Given the description of an element on the screen output the (x, y) to click on. 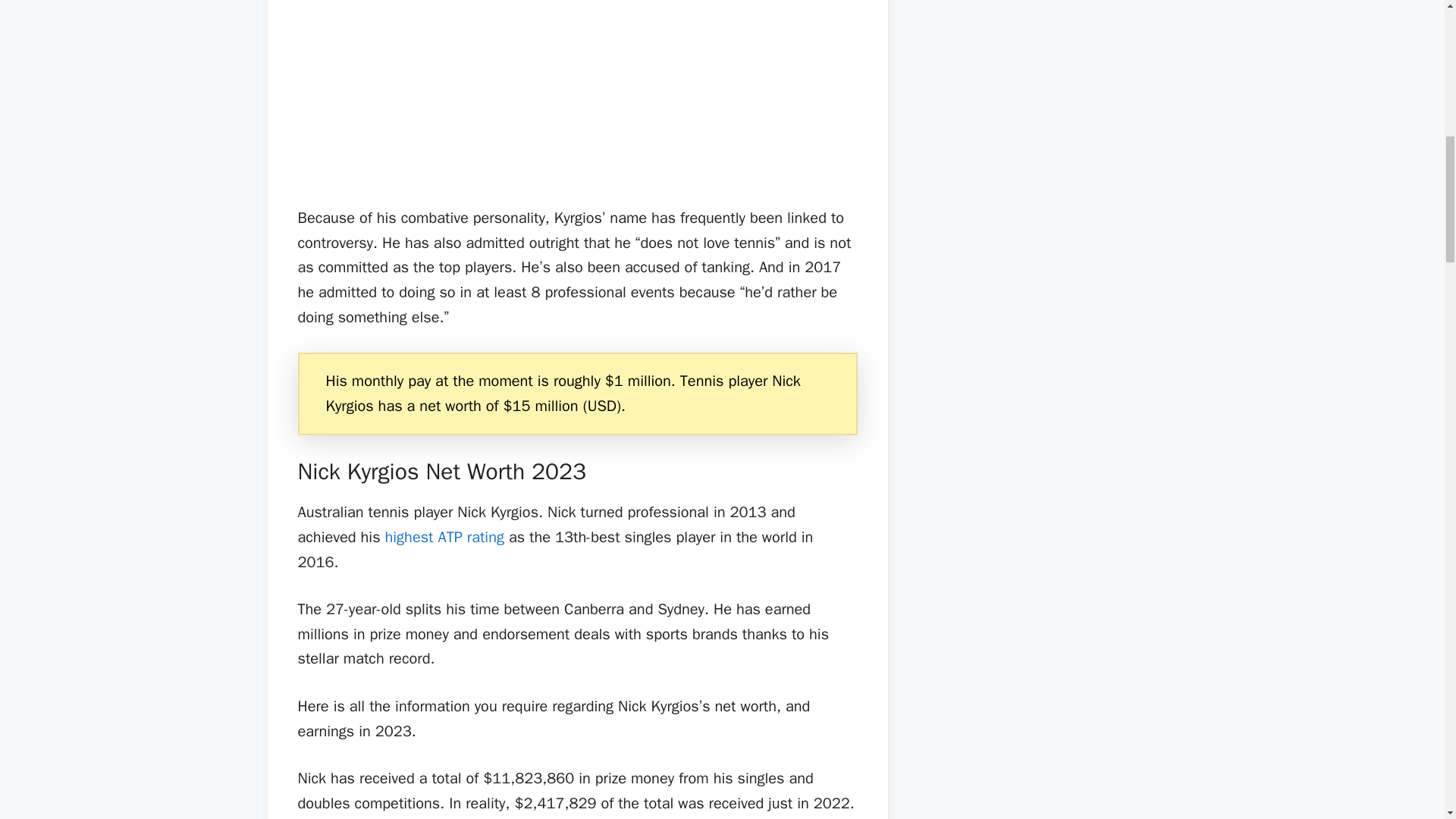
highest ATP rating (444, 537)
